Given the description of an element on the screen output the (x, y) to click on. 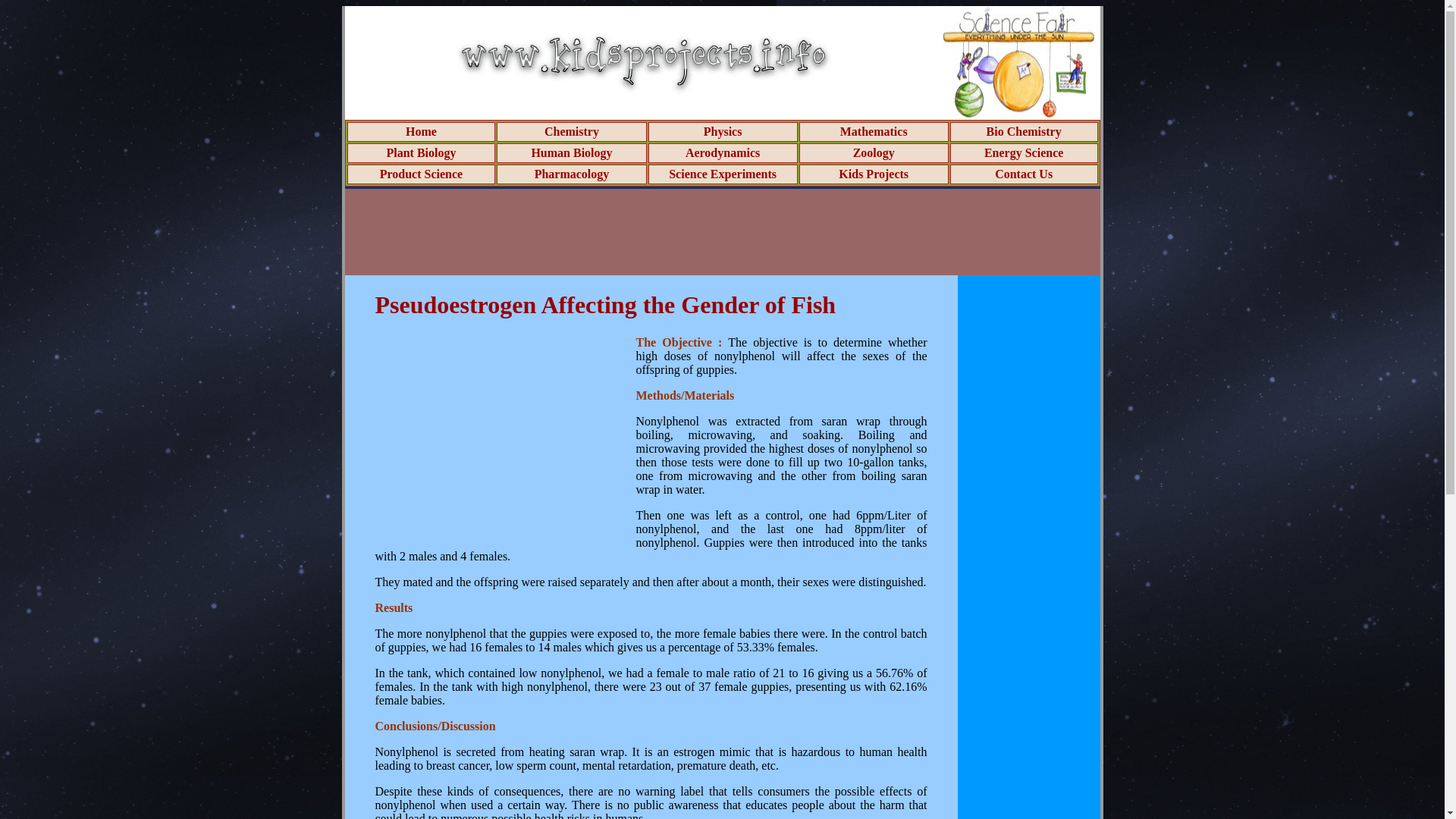
Plant Biology (420, 152)
Contact Us (1023, 173)
Energy Science (1023, 152)
Mathematics (873, 131)
Human Biology (571, 152)
Physics (722, 131)
Kids Projects (873, 173)
Home (421, 131)
Aerodynamics (722, 152)
Advertisement (501, 441)
